Given the description of an element on the screen output the (x, y) to click on. 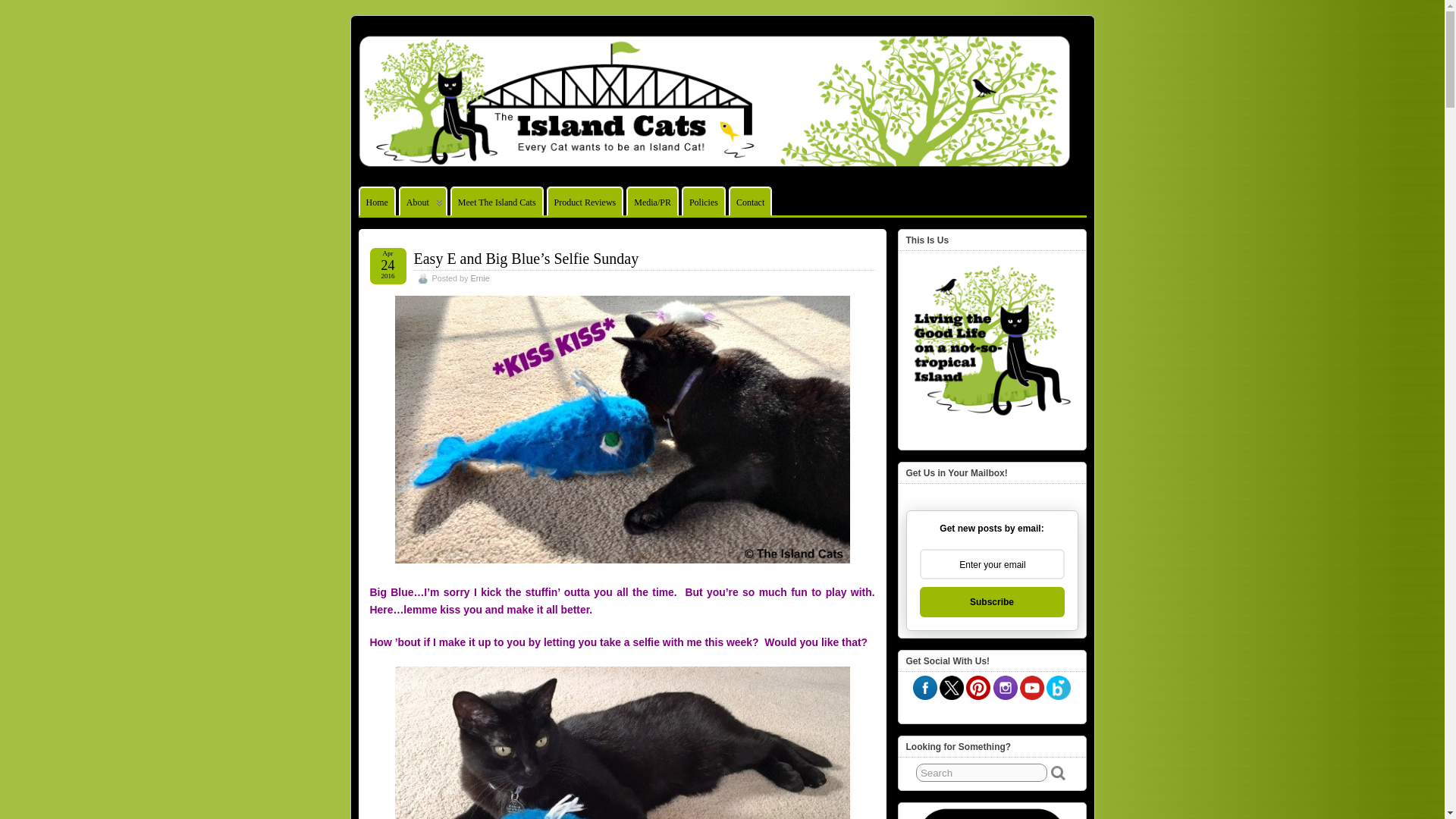
Home (376, 201)
Contact (750, 201)
Ernie (479, 277)
Search (980, 772)
Meet The Island Cats (497, 201)
Product Reviews (585, 201)
Search (980, 772)
 About (422, 201)
Policies (703, 201)
